Given the description of an element on the screen output the (x, y) to click on. 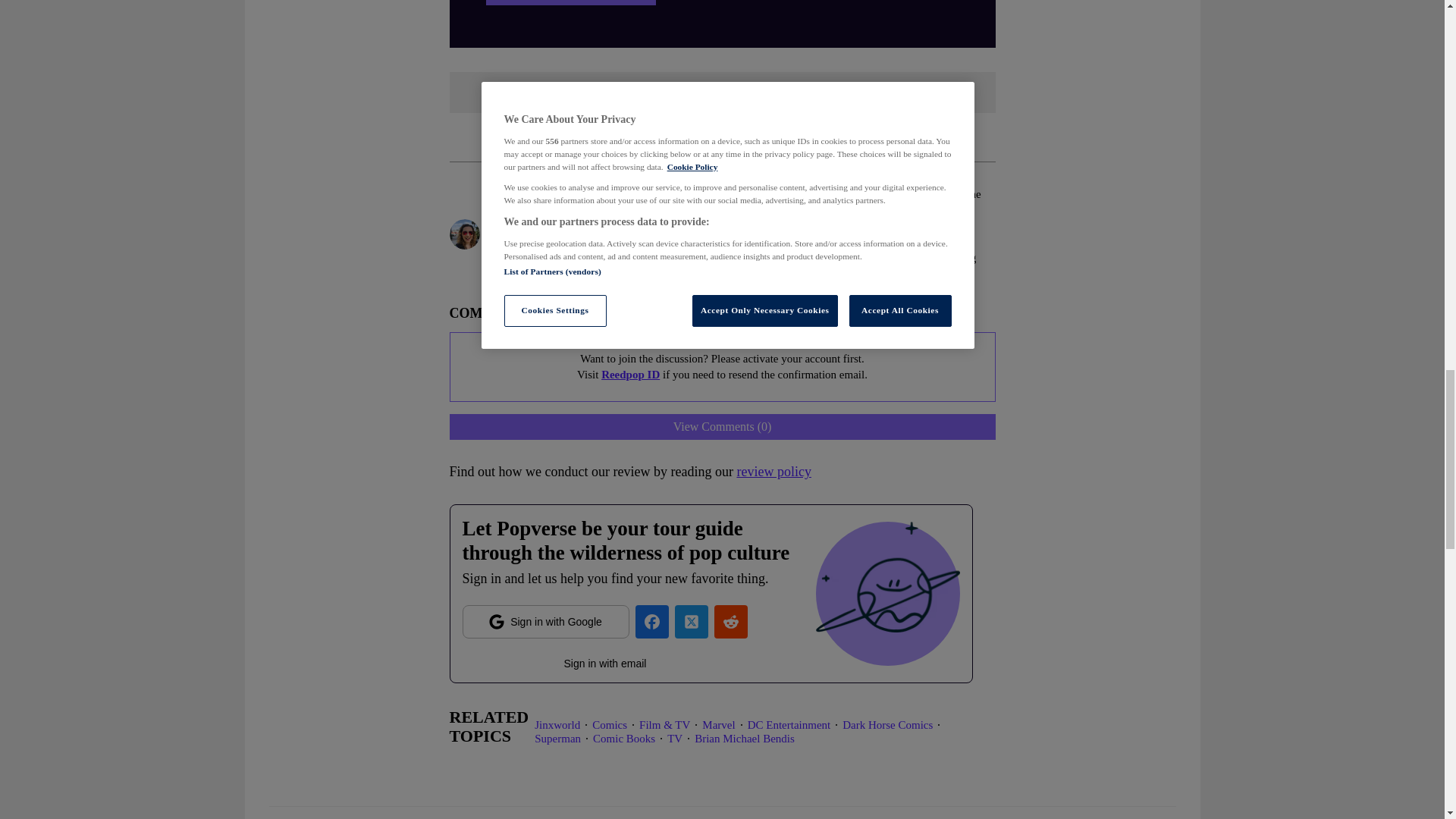
Kat Calamia (528, 193)
google (545, 621)
review policy (773, 471)
Read about menberships (569, 2)
Sign in with Google (545, 621)
facebook (651, 621)
